Given the description of an element on the screen output the (x, y) to click on. 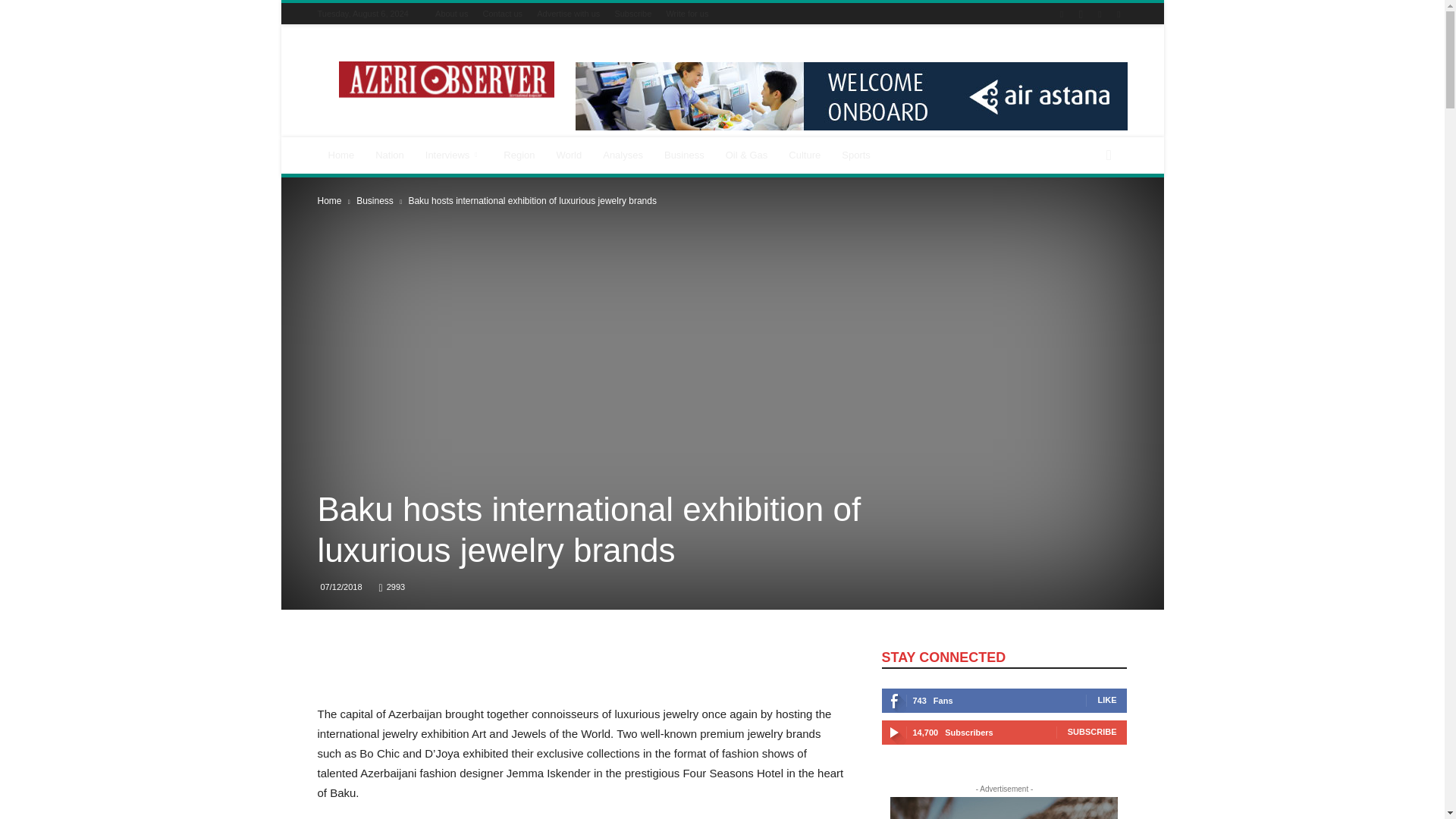
Contact us (502, 13)
Nation (389, 155)
Home (341, 155)
World (569, 155)
Interviews (453, 155)
About us (451, 13)
Advertise with us (568, 13)
View all posts in Business (374, 200)
Region (518, 155)
Subscribe (632, 13)
